Given the description of an element on the screen output the (x, y) to click on. 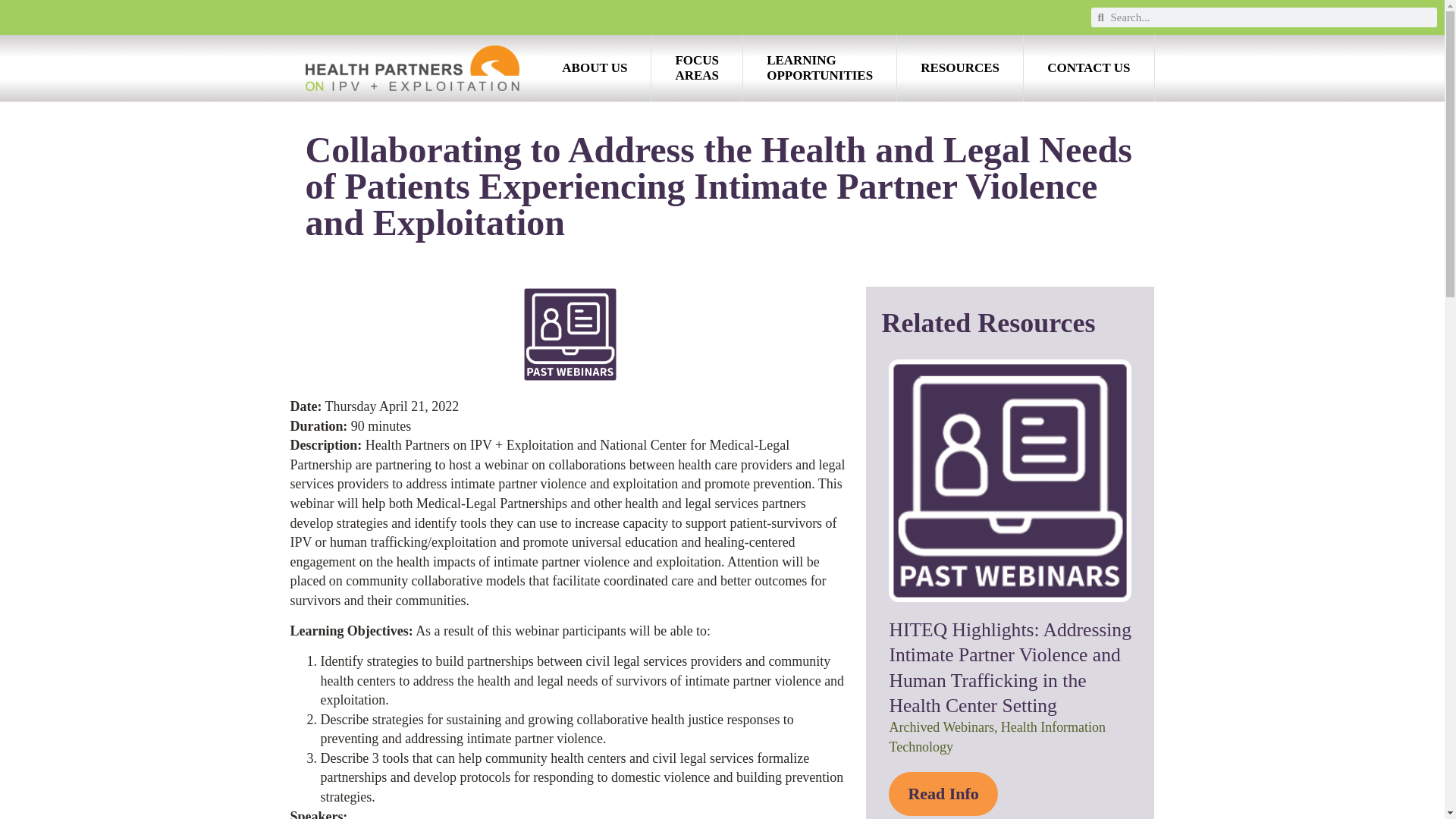
RESOURCES (959, 68)
CONTACT US (819, 68)
ABOUT US (1088, 68)
